Given the description of an element on the screen output the (x, y) to click on. 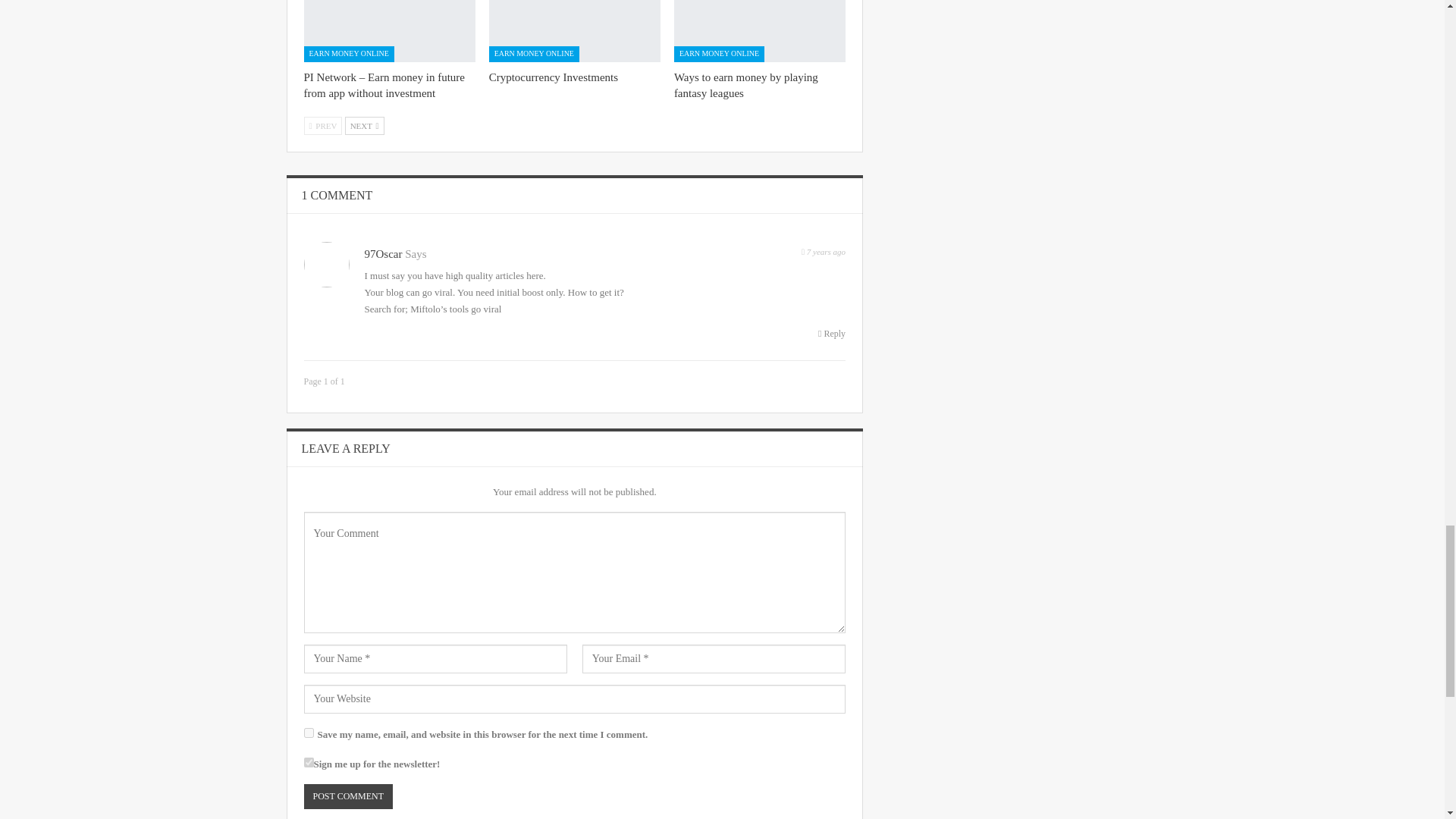
1 (307, 762)
Post Comment (346, 796)
yes (307, 732)
